Given the description of an element on the screen output the (x, y) to click on. 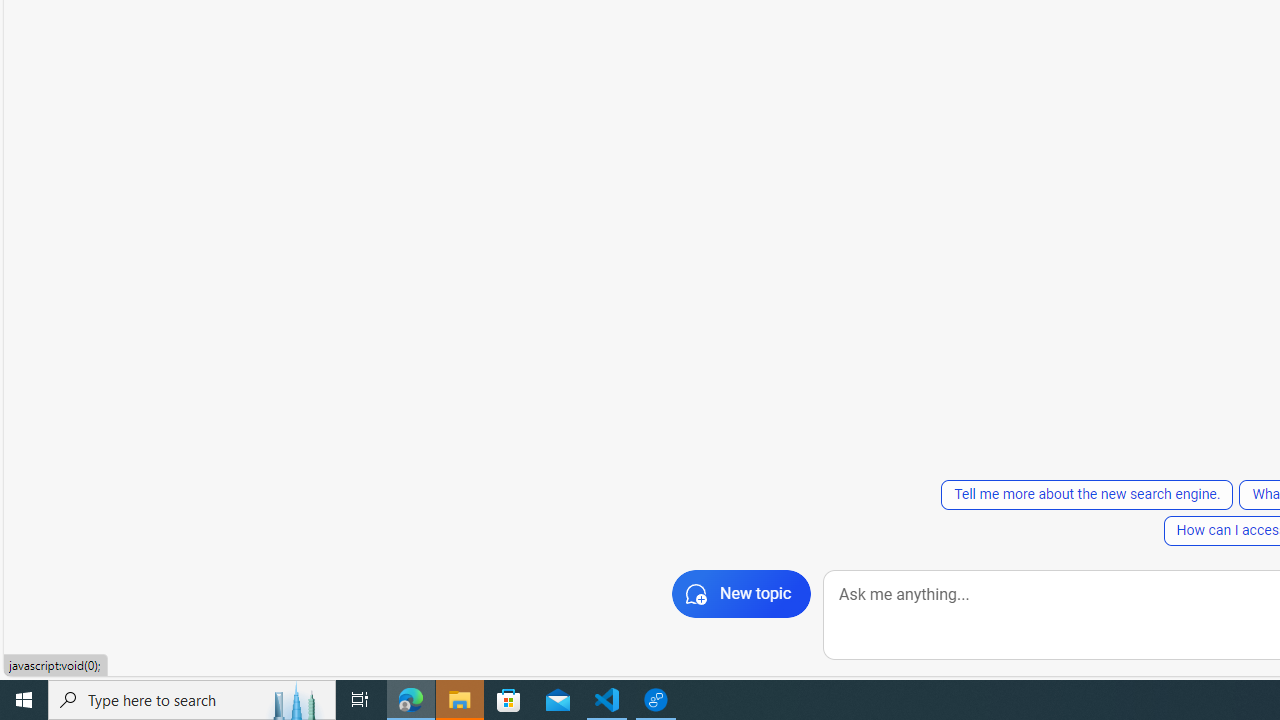
New topic (741, 593)
Tell me more about the new search engine. (1087, 494)
Tell me more about the new search engine. (1086, 494)
